Given the description of an element on the screen output the (x, y) to click on. 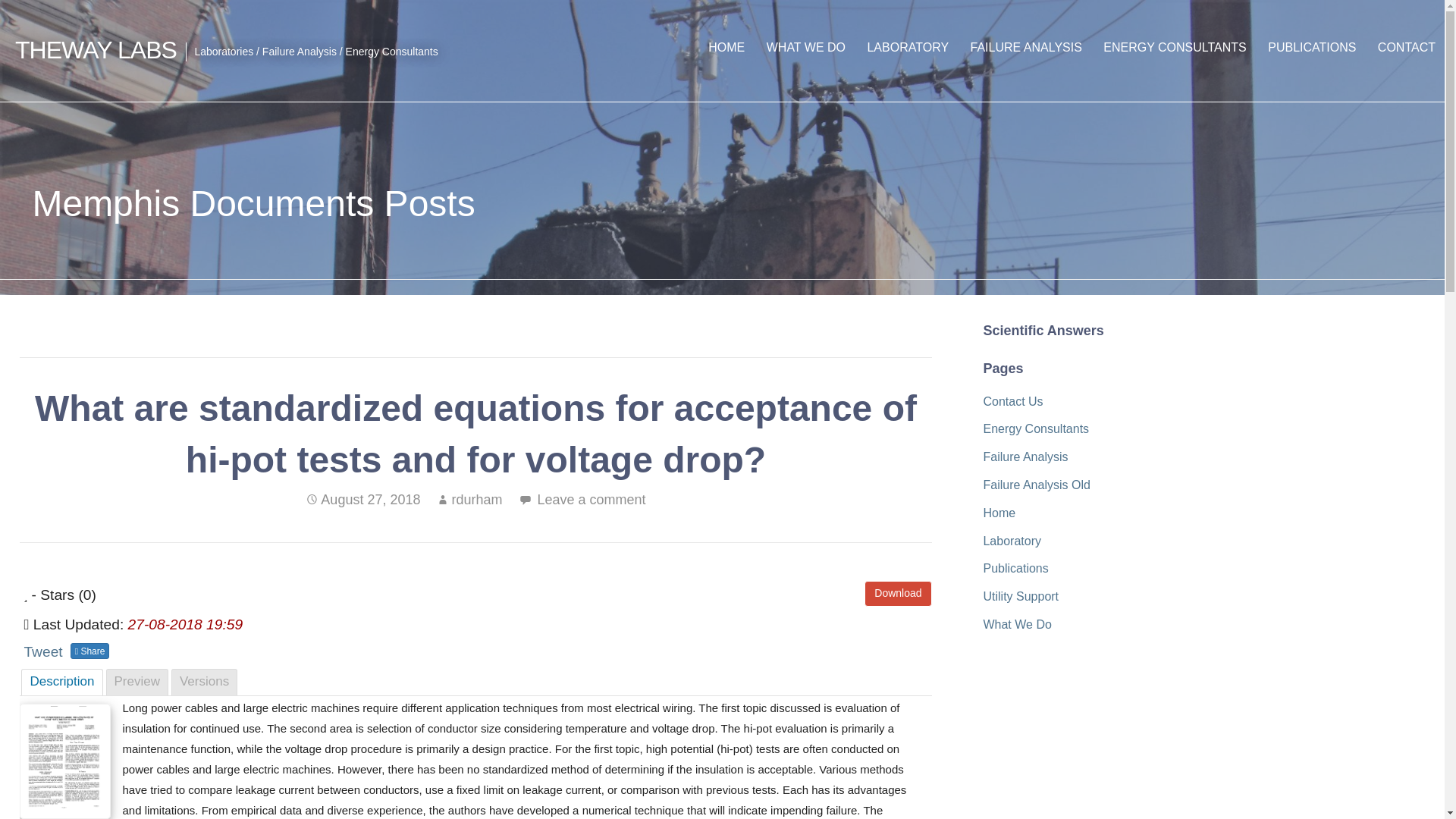
LABORATORY (907, 47)
rdurham (476, 499)
Download (897, 593)
Preview (137, 682)
What We Do (1016, 624)
Failure Analysis (1024, 456)
FAILURE ANALYSIS (1025, 47)
PUBLICATIONS (1312, 47)
Home (998, 512)
Failure Analysis Old (1035, 484)
